Given the description of an element on the screen output the (x, y) to click on. 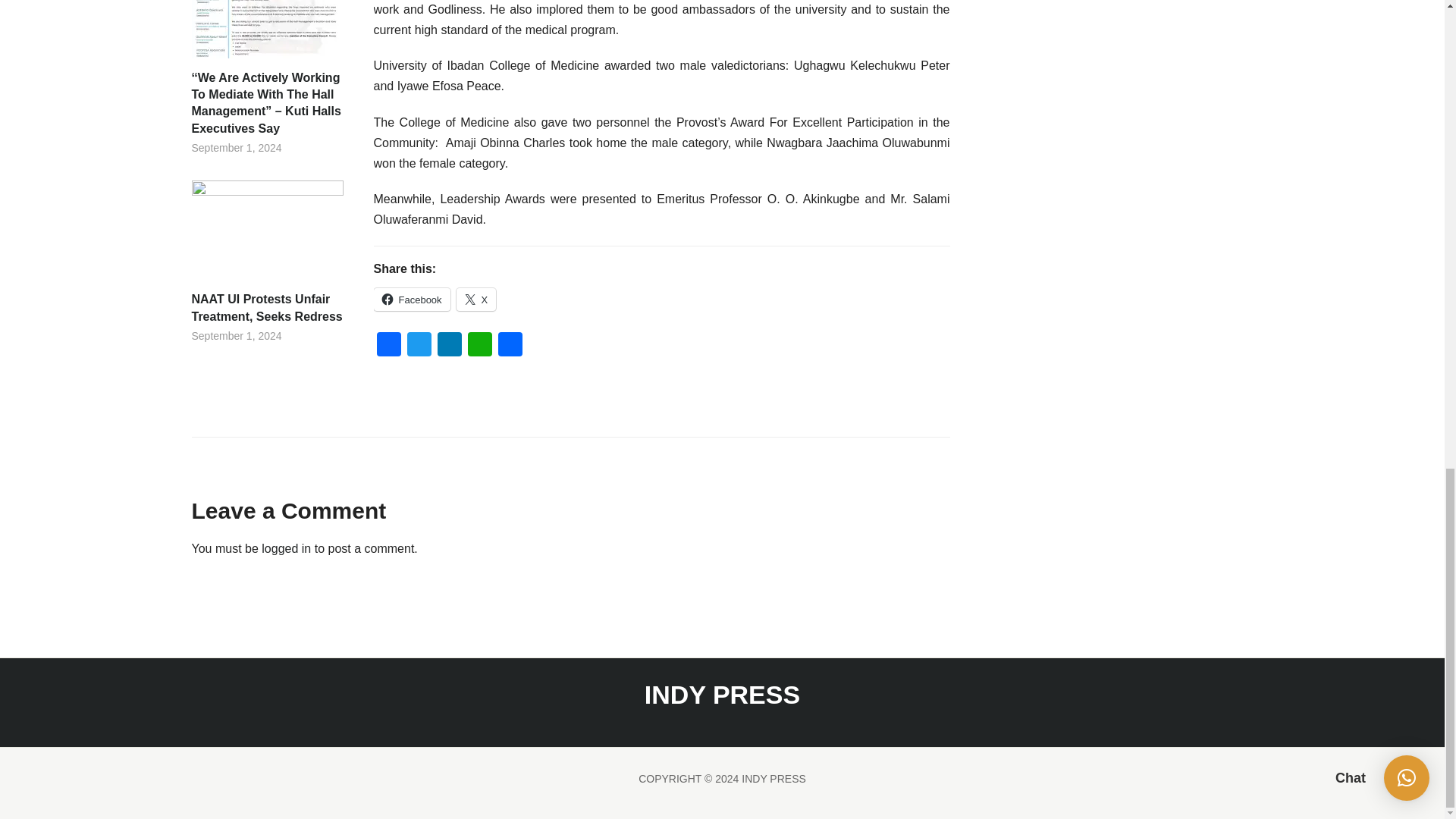
Click to share on Facebook (410, 299)
